Given the description of an element on the screen output the (x, y) to click on. 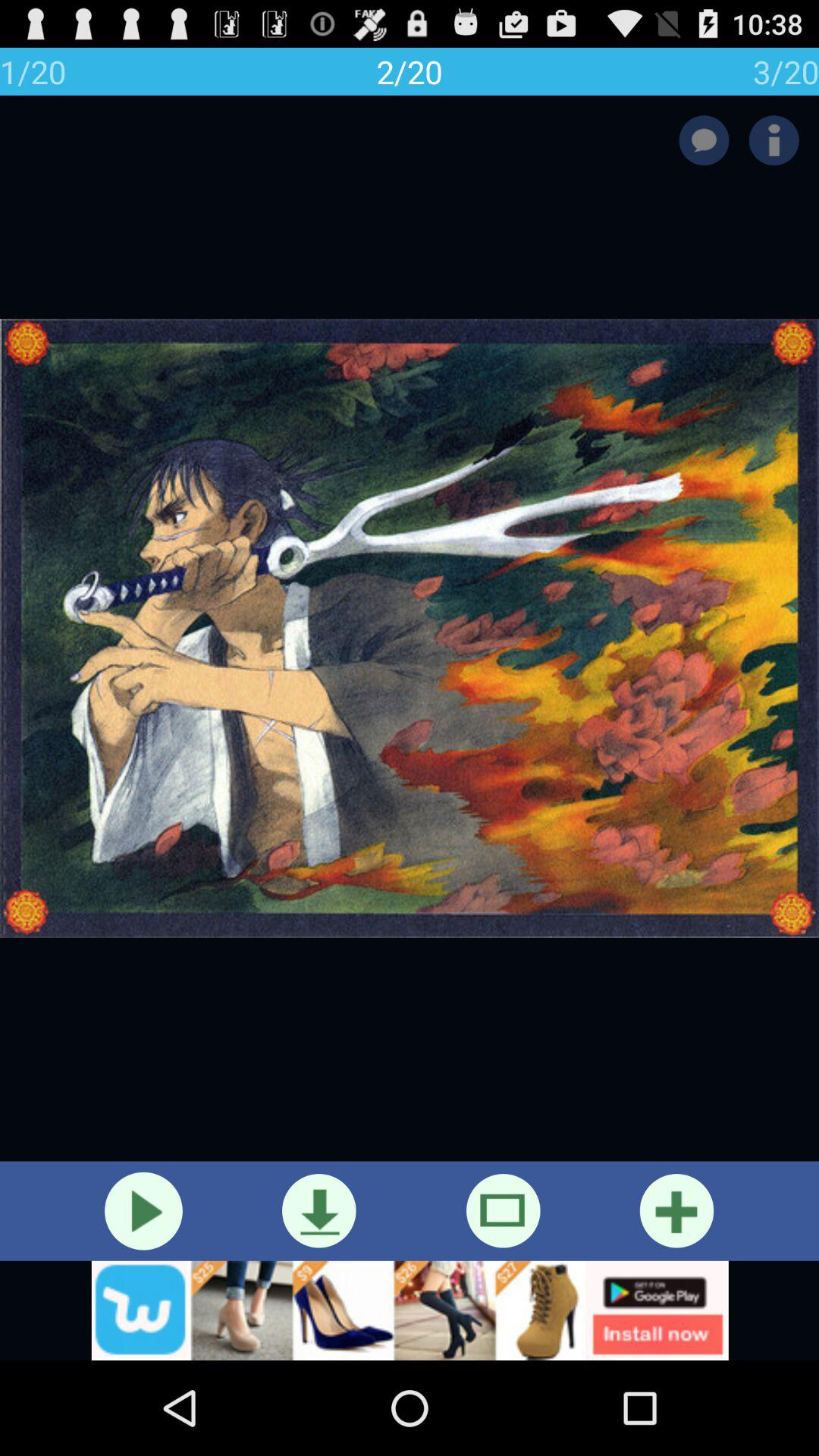
download button (319, 1210)
